Given the description of an element on the screen output the (x, y) to click on. 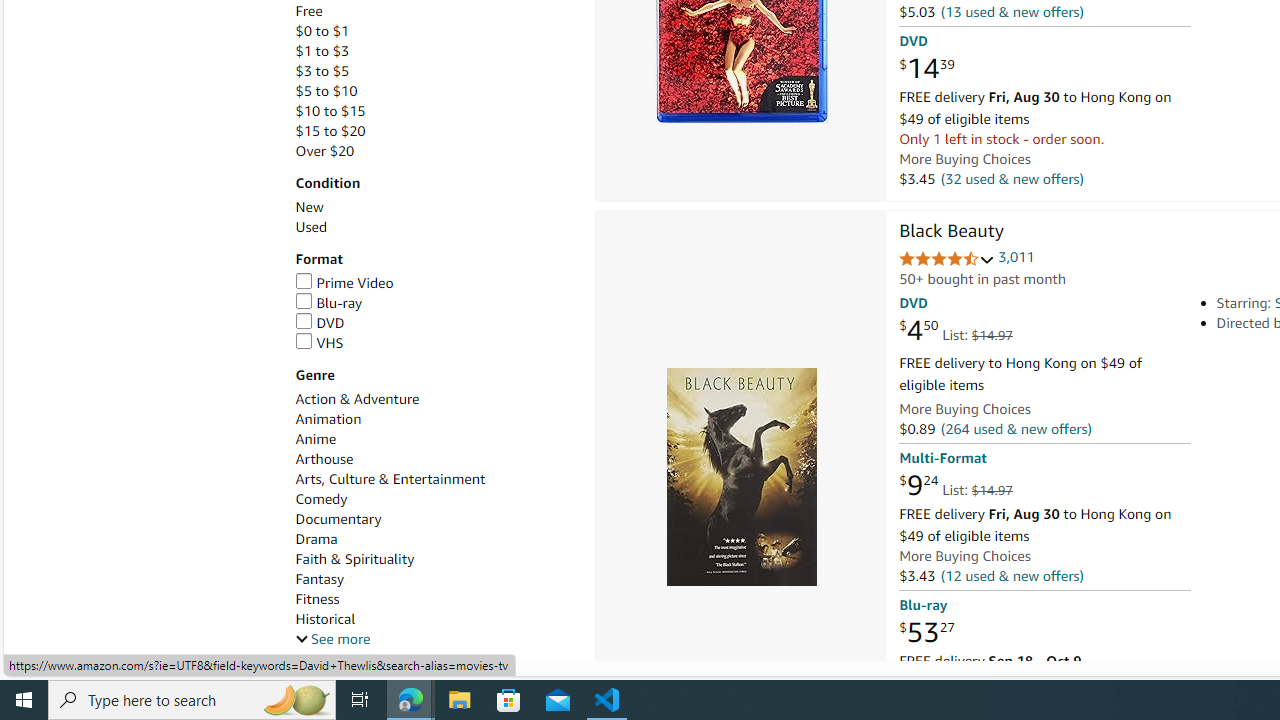
DVD (434, 323)
Over $20 (324, 151)
$14.39 (926, 69)
Free (434, 11)
Documentary (337, 519)
Action & Adventure (356, 399)
(264 used & new offers) (1015, 429)
Drama (434, 539)
$1 to $3 (321, 51)
(12 used & new offers) (1011, 574)
Blu-ray (434, 303)
$4.50 List: $14.97 (955, 331)
$1 to $3 (434, 51)
